Given the description of an element on the screen output the (x, y) to click on. 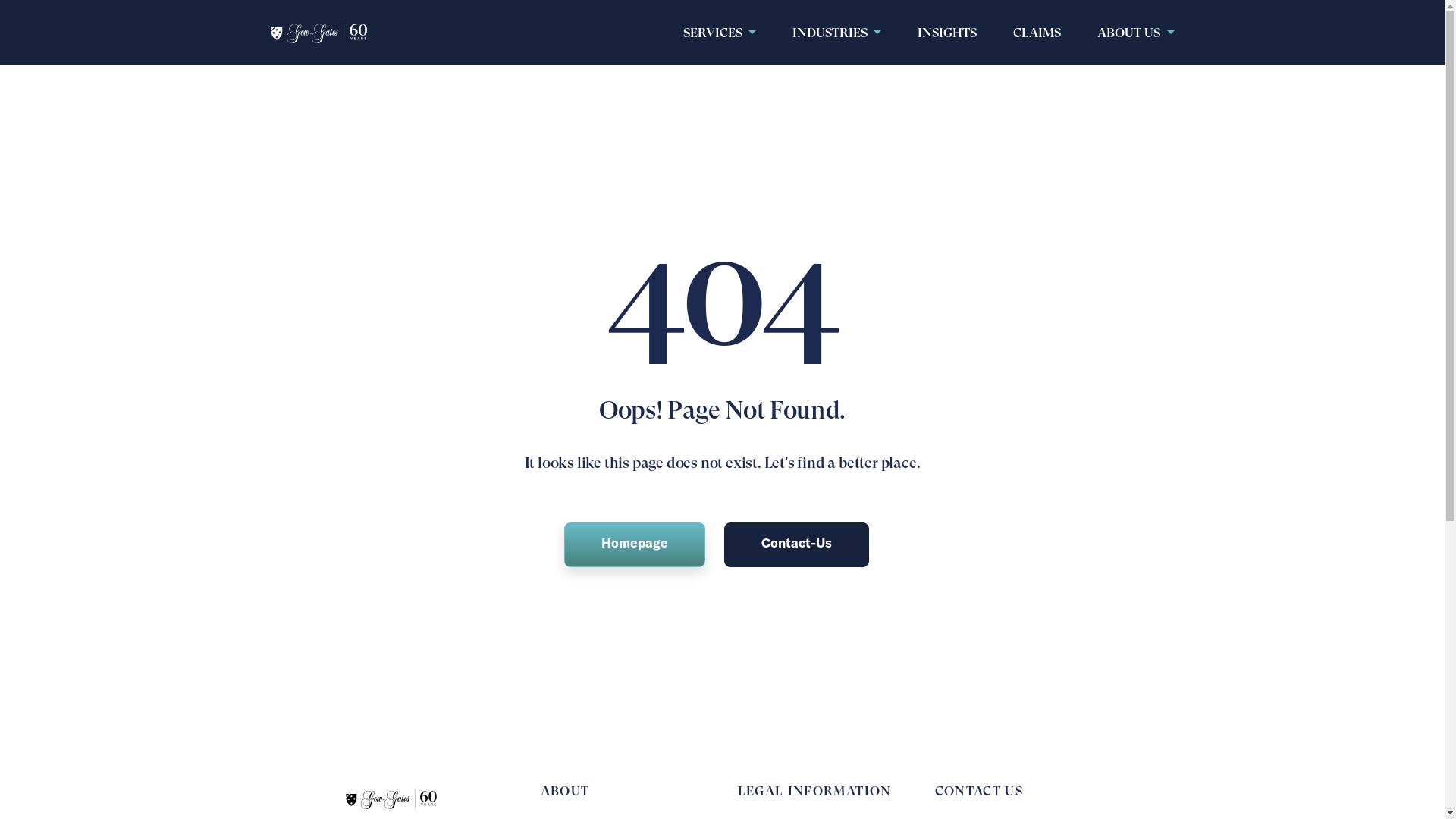
SERVICES Element type: text (719, 32)
INSIGHTS Element type: text (946, 32)
Contact-Us Element type: text (795, 544)
CLAIMS Element type: text (1036, 32)
Homepage Element type: text (634, 544)
ABOUT US Element type: text (1135, 32)
INDUSTRIES Element type: text (836, 32)
